Given the description of an element on the screen output the (x, y) to click on. 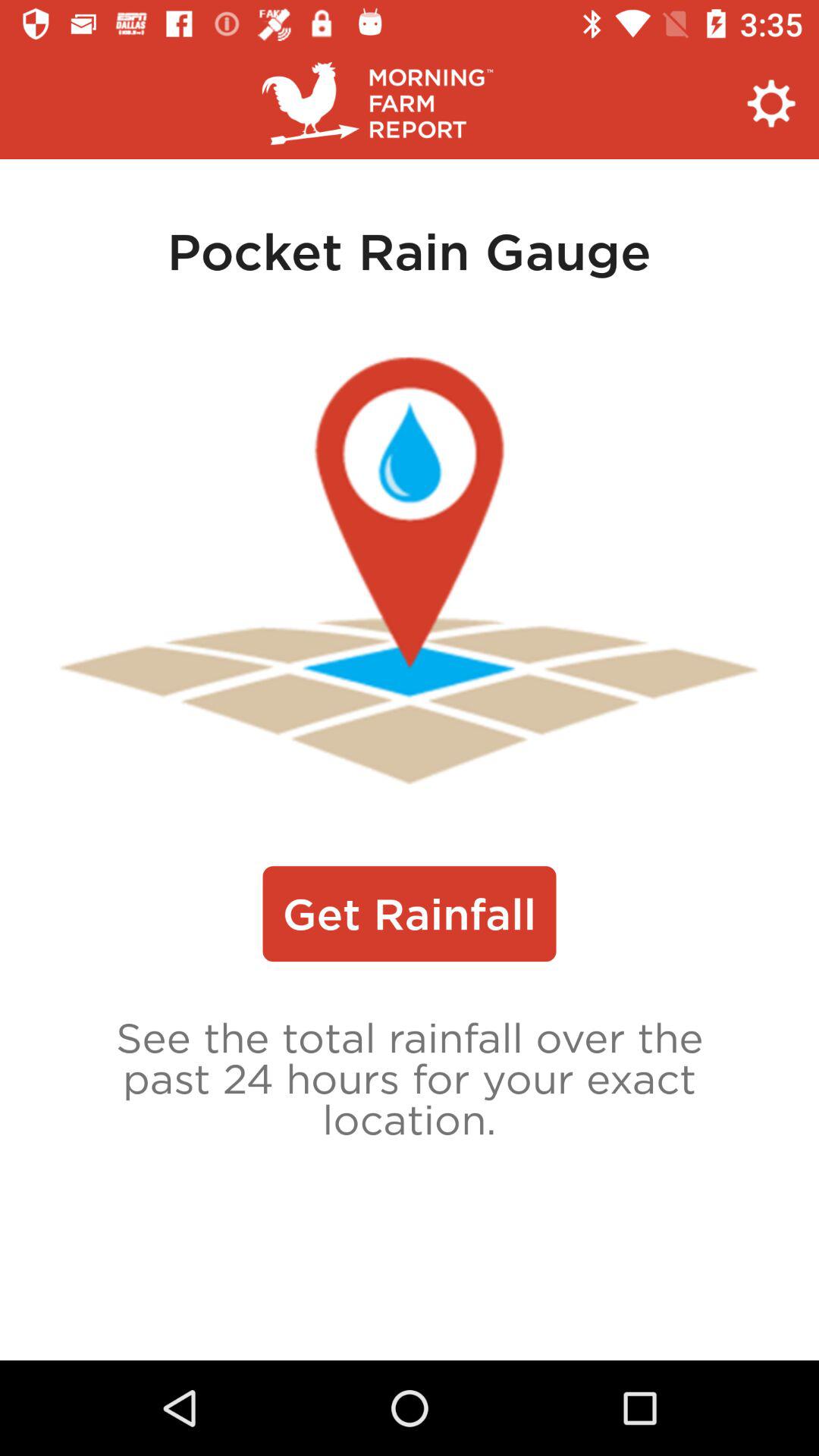
click the icon at the top right corner (771, 103)
